Given the description of an element on the screen output the (x, y) to click on. 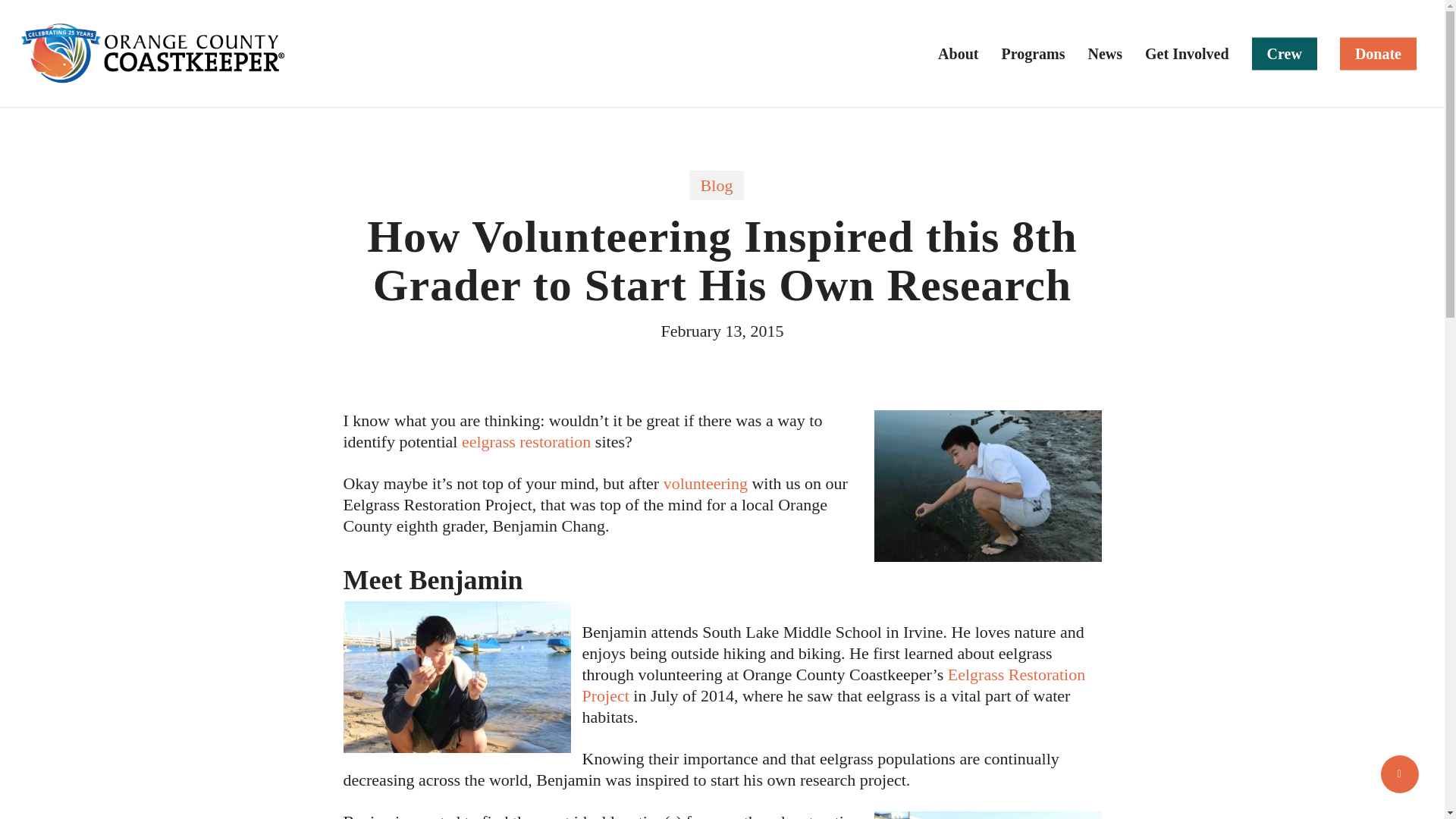
Get Involved (1186, 53)
Donate (1377, 53)
eelgrass restoration (526, 441)
About (957, 53)
Eelgrass Restoration Project (834, 685)
Programs (1032, 53)
News (1104, 53)
Crew (1284, 53)
volunteering (705, 483)
Blog (716, 184)
